Given the description of an element on the screen output the (x, y) to click on. 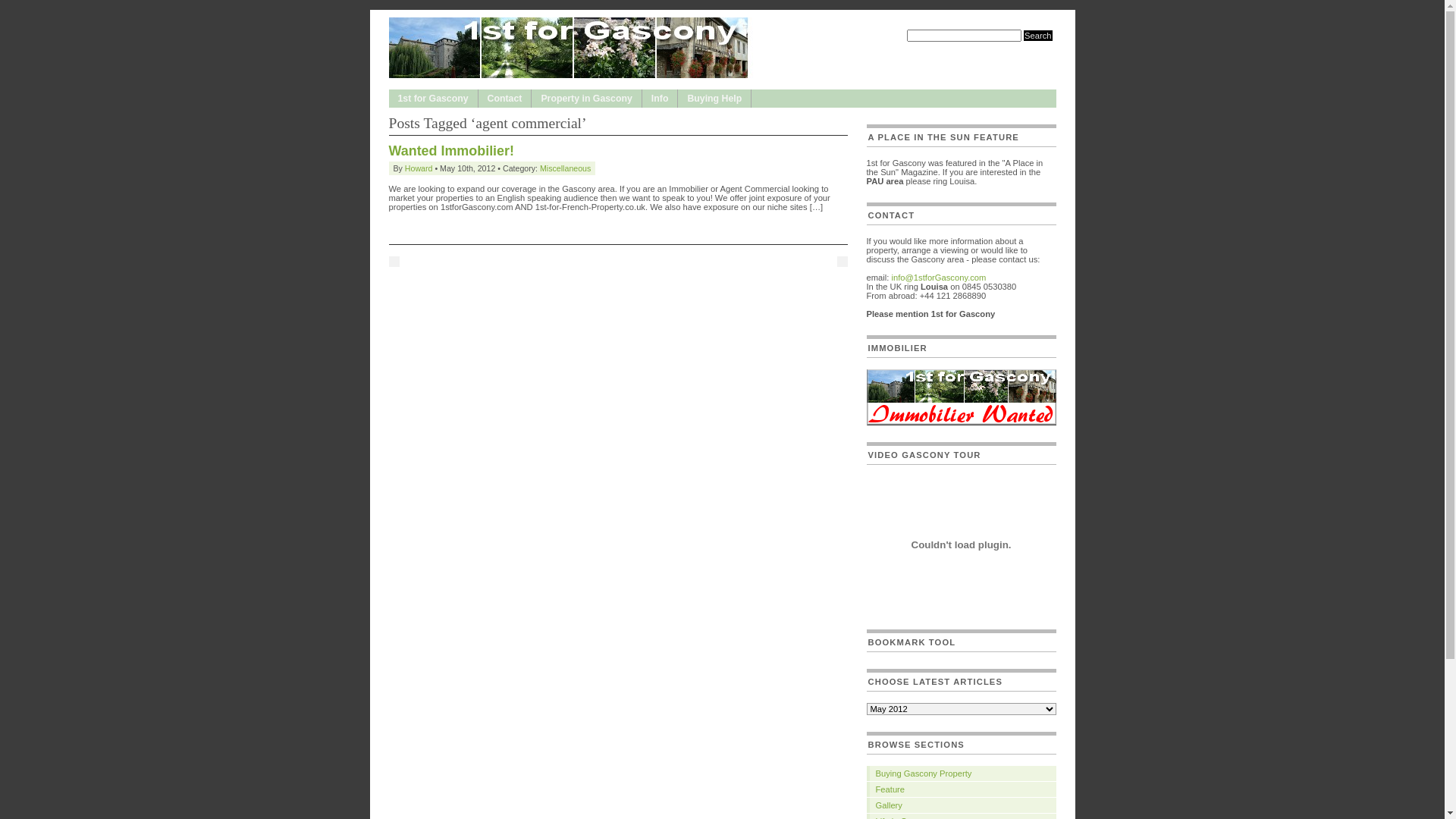
Gallery Element type: text (960, 804)
Property in Gascony Element type: text (585, 98)
Wanted Immobilier! Element type: text (450, 150)
Buying Gascony Property Element type: text (960, 773)
Buying Help Element type: text (713, 98)
Howard Element type: text (418, 167)
Feature Element type: text (960, 789)
1st for Gascony Element type: text (432, 98)
Search Element type: text (1037, 35)
Miscellaneous Element type: text (564, 167)
info@1stforGascony.com Element type: text (938, 277)
Immobilier Wanted Element type: hover (960, 421)
Info Element type: text (659, 98)
Contact Element type: text (504, 98)
